Given the description of an element on the screen output the (x, y) to click on. 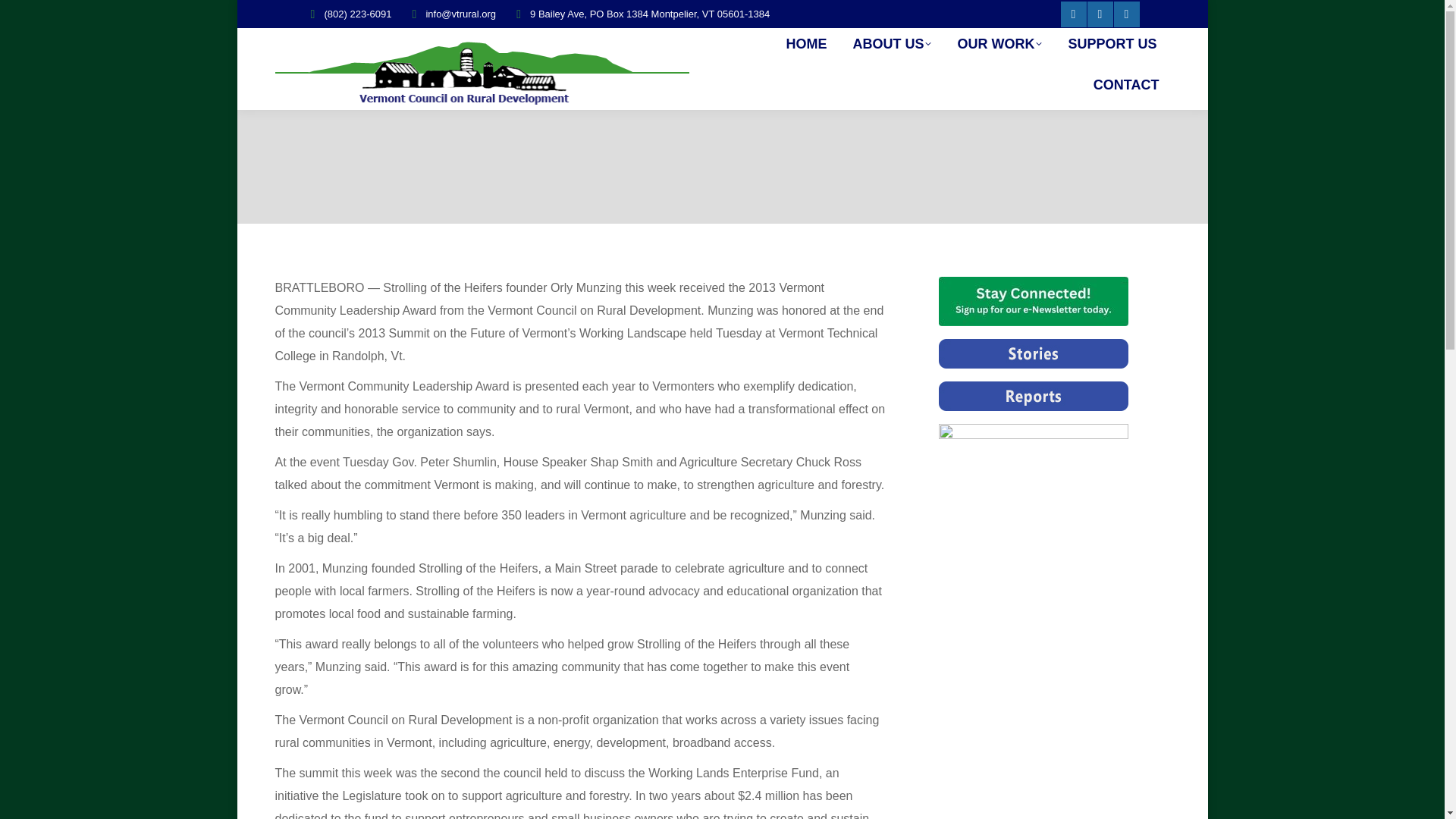
X page opens in new window (1100, 14)
Facebook page opens in new window (1072, 14)
Facebook page opens in new window (1072, 14)
HOME (805, 43)
ABOUT US (891, 43)
SUPPORT US (1112, 43)
OUR WORK (999, 43)
YouTube page opens in new window (1125, 14)
YouTube page opens in new window (1125, 14)
CONTACT (1126, 84)
